Given the description of an element on the screen output the (x, y) to click on. 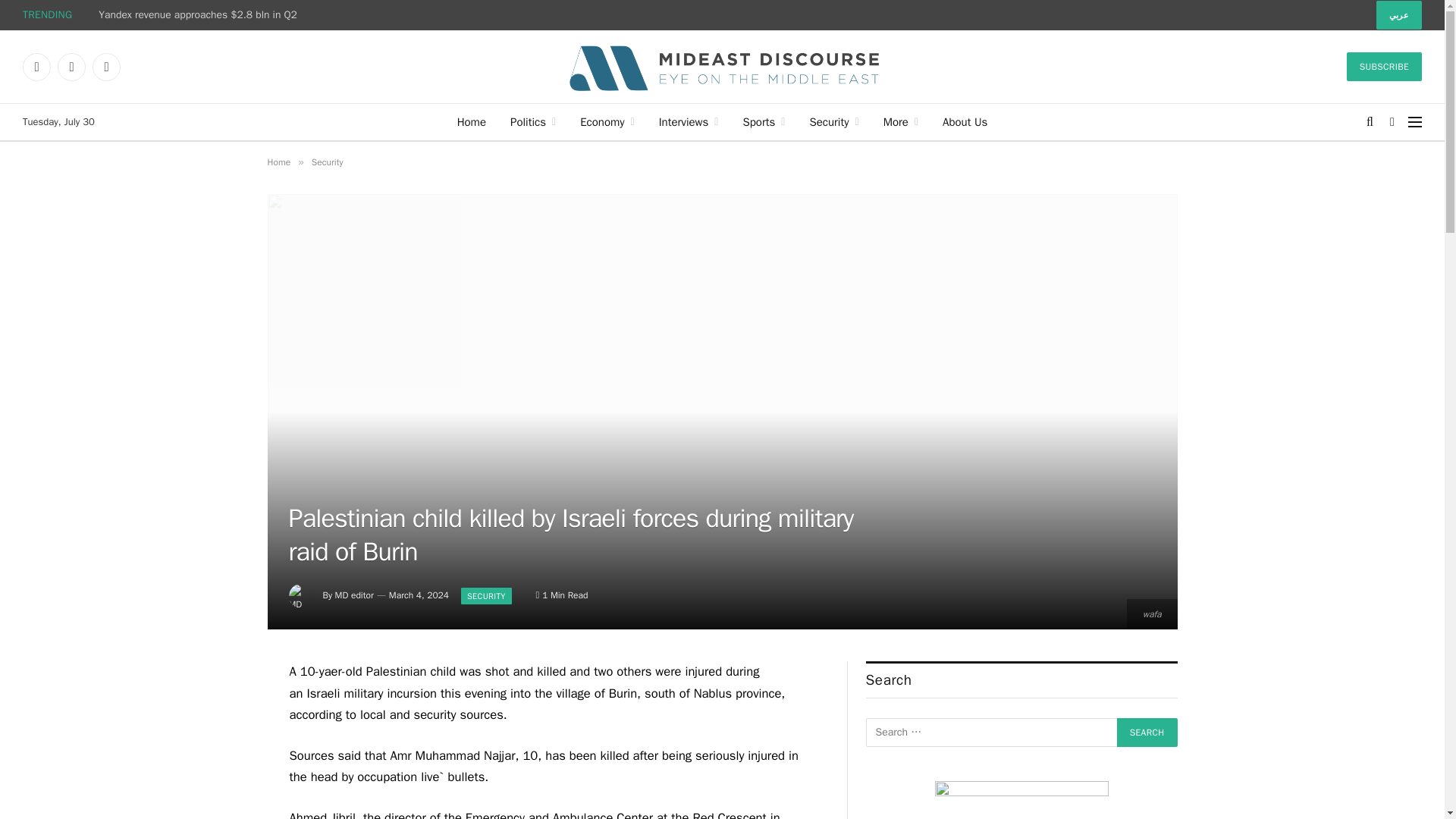
Search (1146, 732)
Politics (532, 122)
SUBSCRIBE (1384, 66)
Facebook (36, 67)
Home (471, 122)
Instagram (106, 67)
Economy (606, 122)
Search (1146, 732)
Mideast Discourse (722, 66)
